Given the description of an element on the screen output the (x, y) to click on. 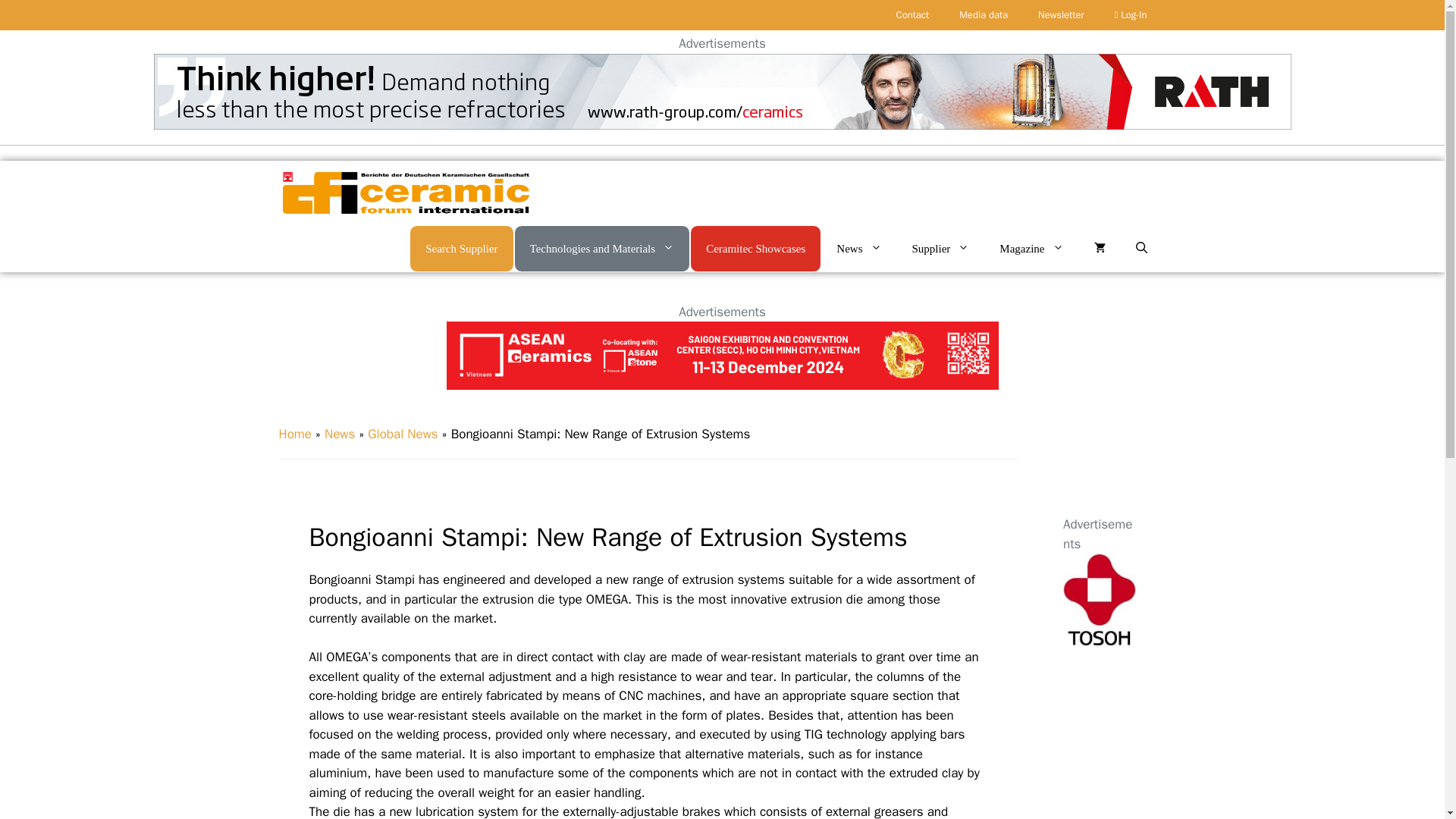
Log-In (1130, 15)
View your shopping cart (1098, 248)
Technologies and Materials (601, 247)
News (858, 248)
Supplier (940, 248)
Newsletter (1061, 15)
Contact (912, 15)
cfi (405, 192)
Media data (983, 15)
Ceramitec Showcases (755, 247)
